Given the description of an element on the screen output the (x, y) to click on. 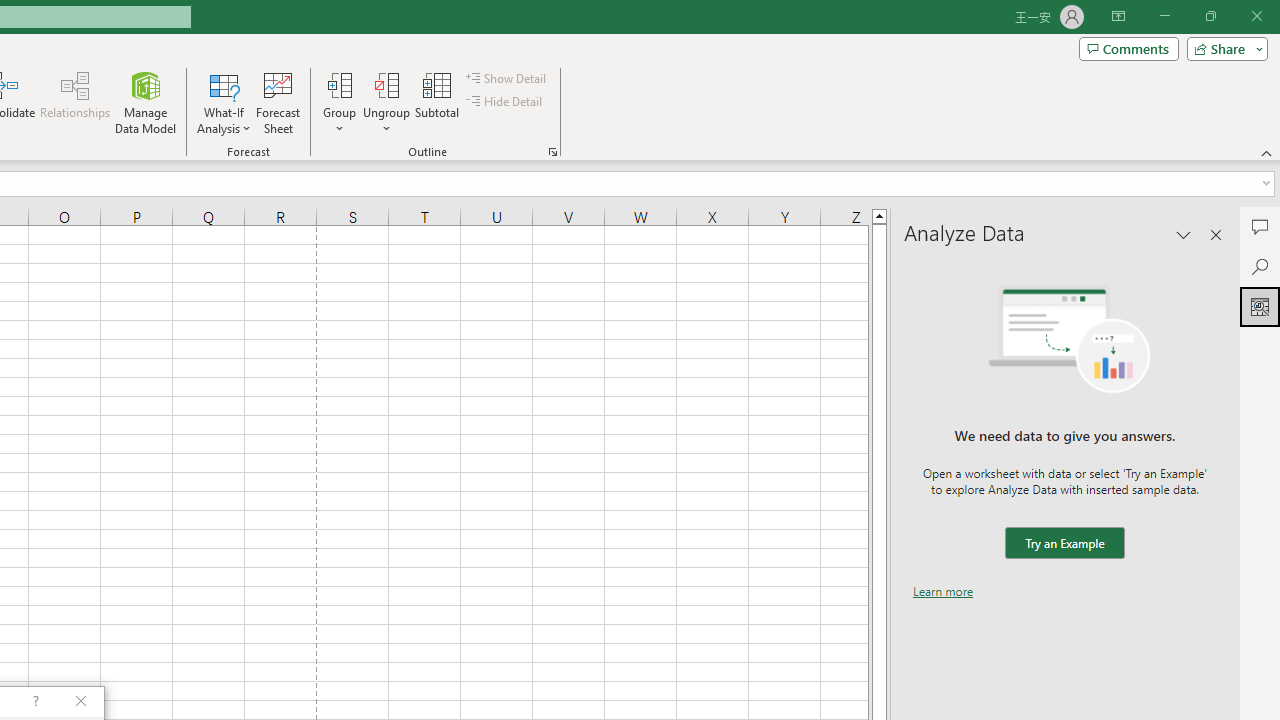
What-If Analysis (223, 102)
Subtotal (437, 102)
Show Detail (507, 78)
We need data to give you answers. Try an Example (1064, 543)
Learn more (943, 591)
Relationships (75, 102)
Ungroup... (386, 84)
Group and Outline Settings (552, 151)
Task Pane Options (1183, 234)
Hide Detail (505, 101)
Group... (339, 84)
